Given the description of an element on the screen output the (x, y) to click on. 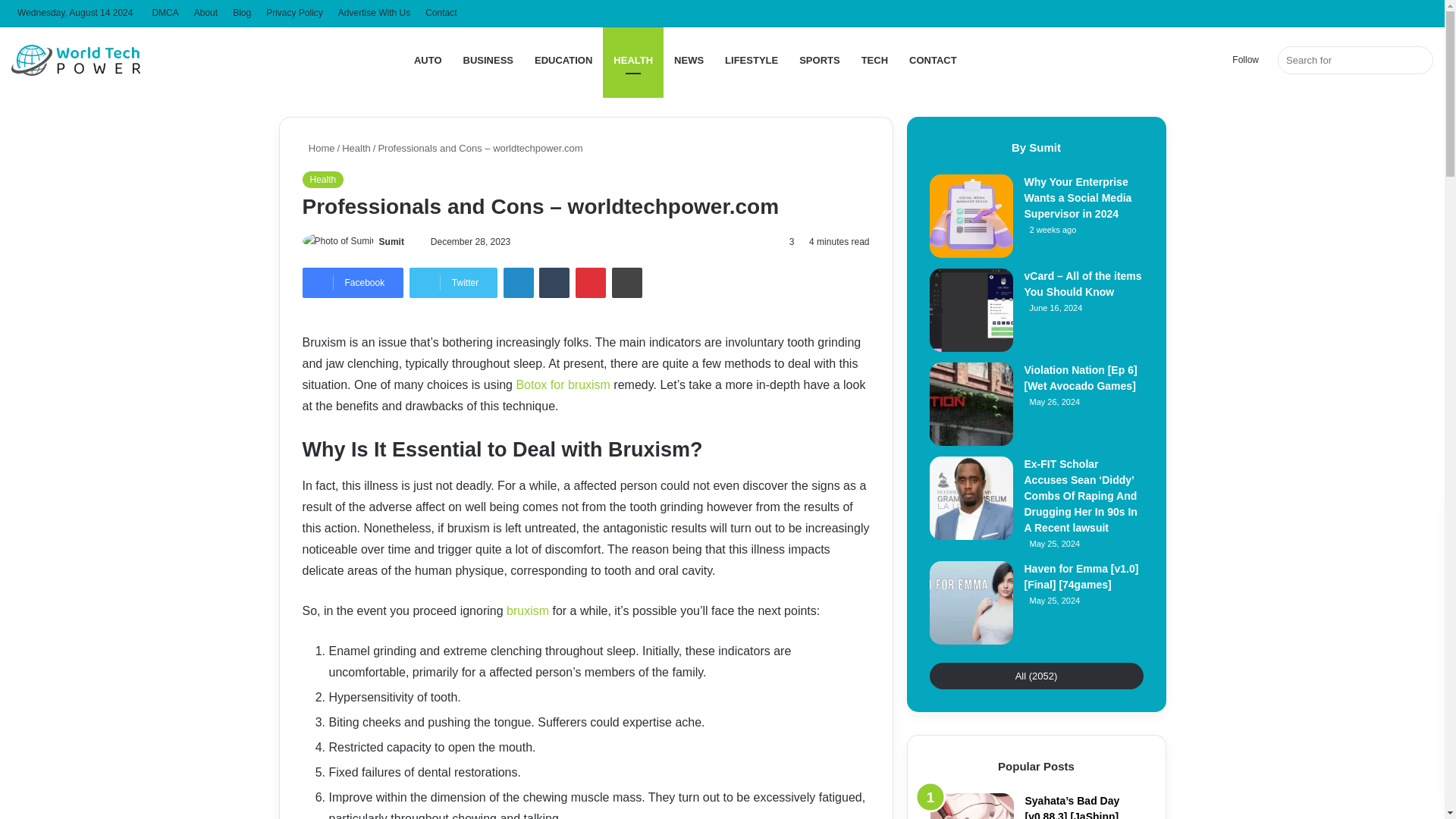
Sumit (391, 241)
Facebook (352, 282)
Search for (1355, 59)
Twitter (453, 282)
Twitter (453, 282)
Blog (242, 13)
Health (322, 179)
World Tech Power (75, 60)
CONTACT (933, 60)
LIFESTYLE (751, 60)
